Given the description of an element on the screen output the (x, y) to click on. 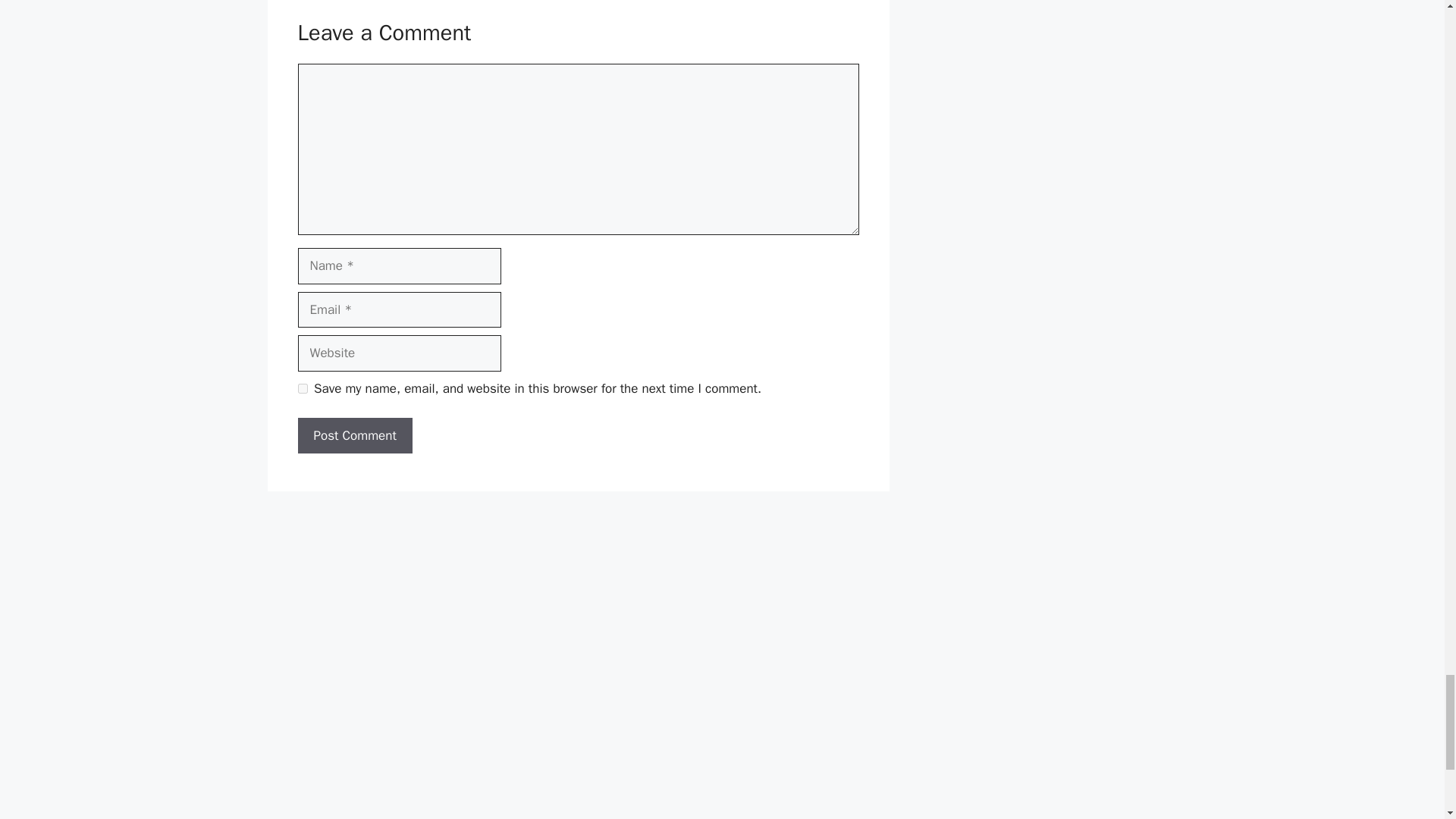
Post Comment (354, 435)
yes (302, 388)
Post Comment (354, 435)
